Given the description of an element on the screen output the (x, y) to click on. 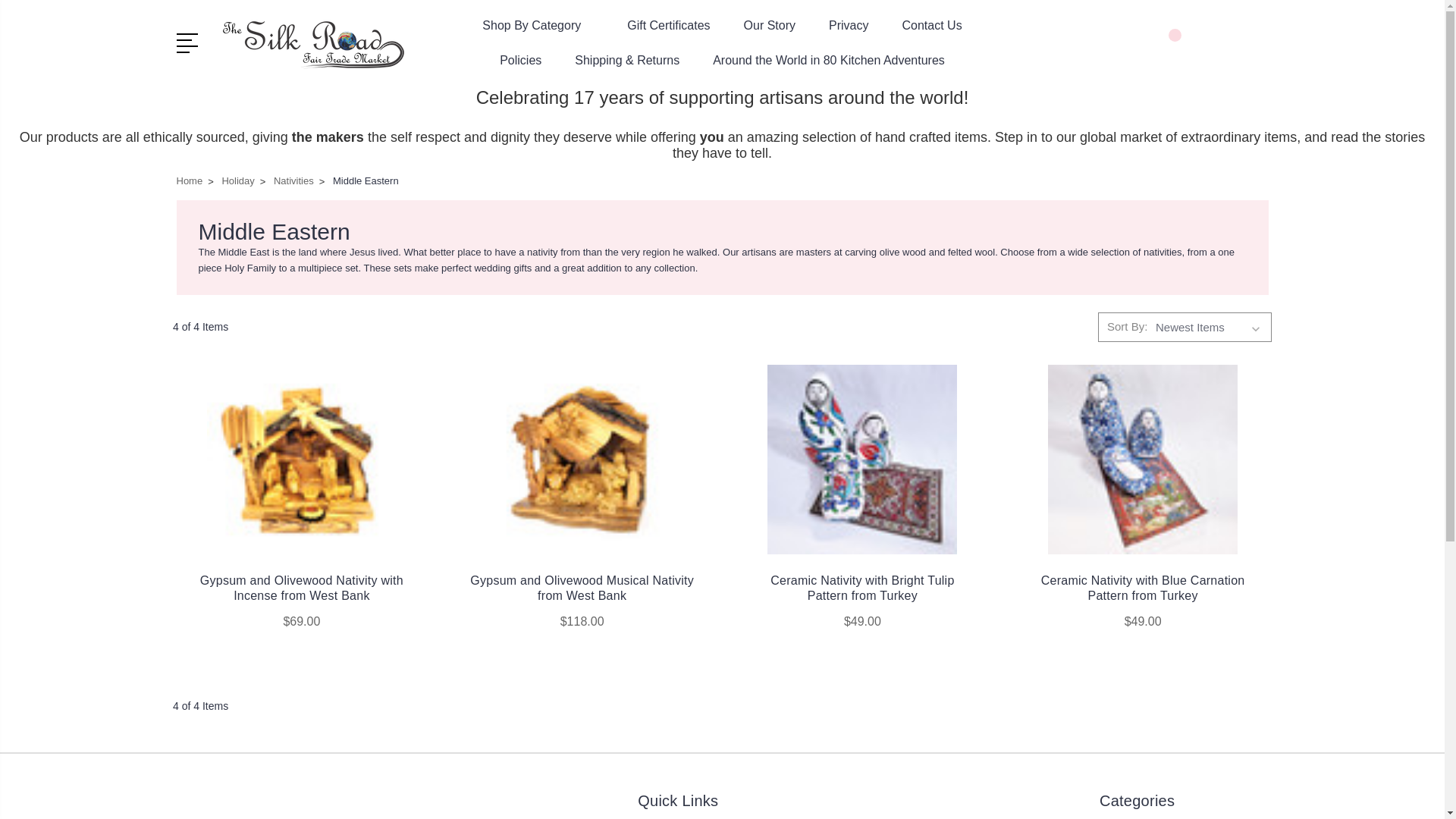
The Silk Road Fair Trade Market  (320, 43)
Shop By Category (537, 34)
